Given the description of an element on the screen output the (x, y) to click on. 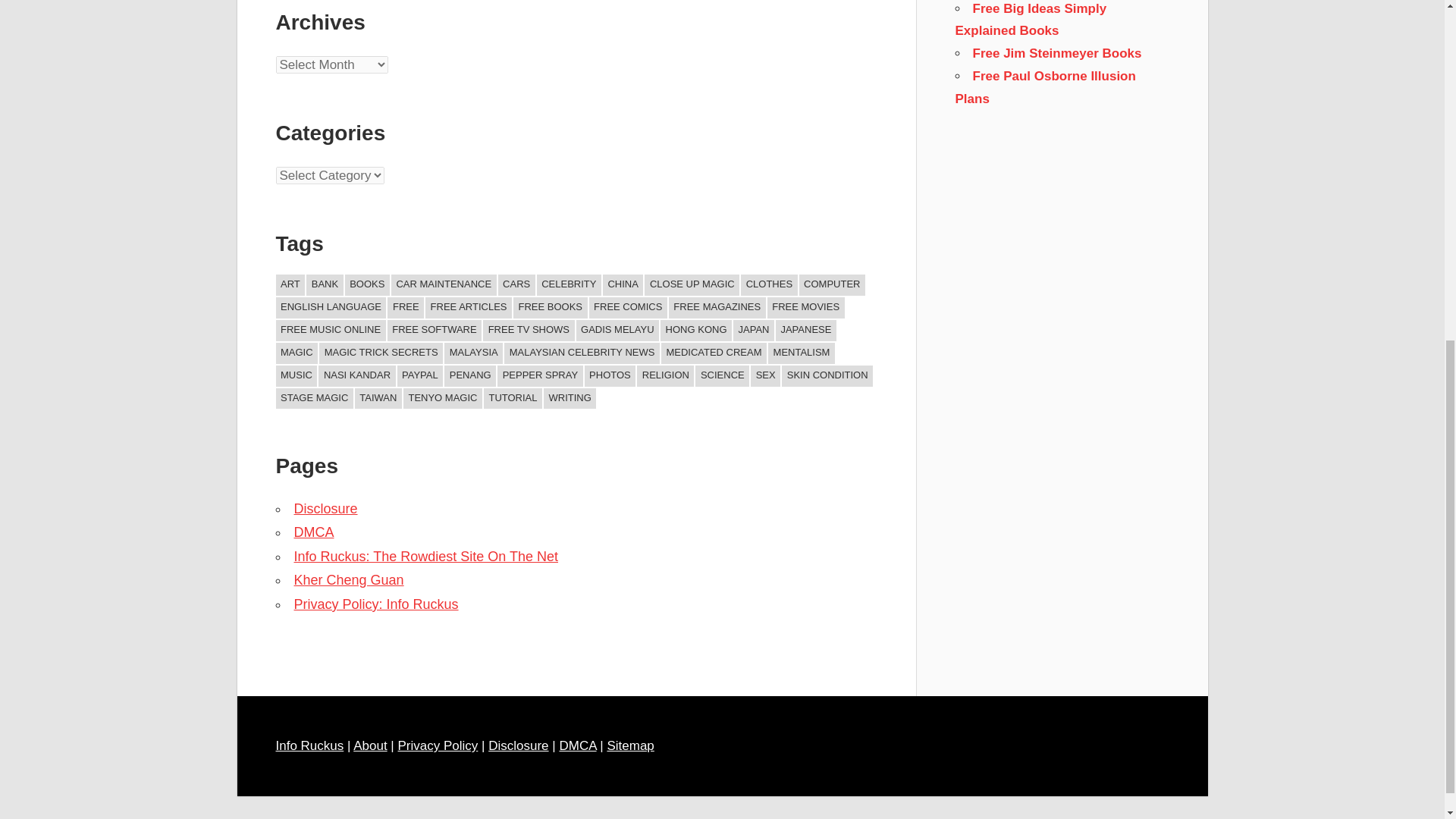
FREE MUSIC ONLINE (330, 330)
CLOSE UP MAGIC (692, 284)
FREE (405, 307)
JAPAN (753, 330)
HONG KONG (696, 330)
ART (290, 284)
CHINA (622, 284)
FREE BOOKS (550, 307)
BOOKS (367, 284)
COMPUTER (831, 284)
